Given the description of an element on the screen output the (x, y) to click on. 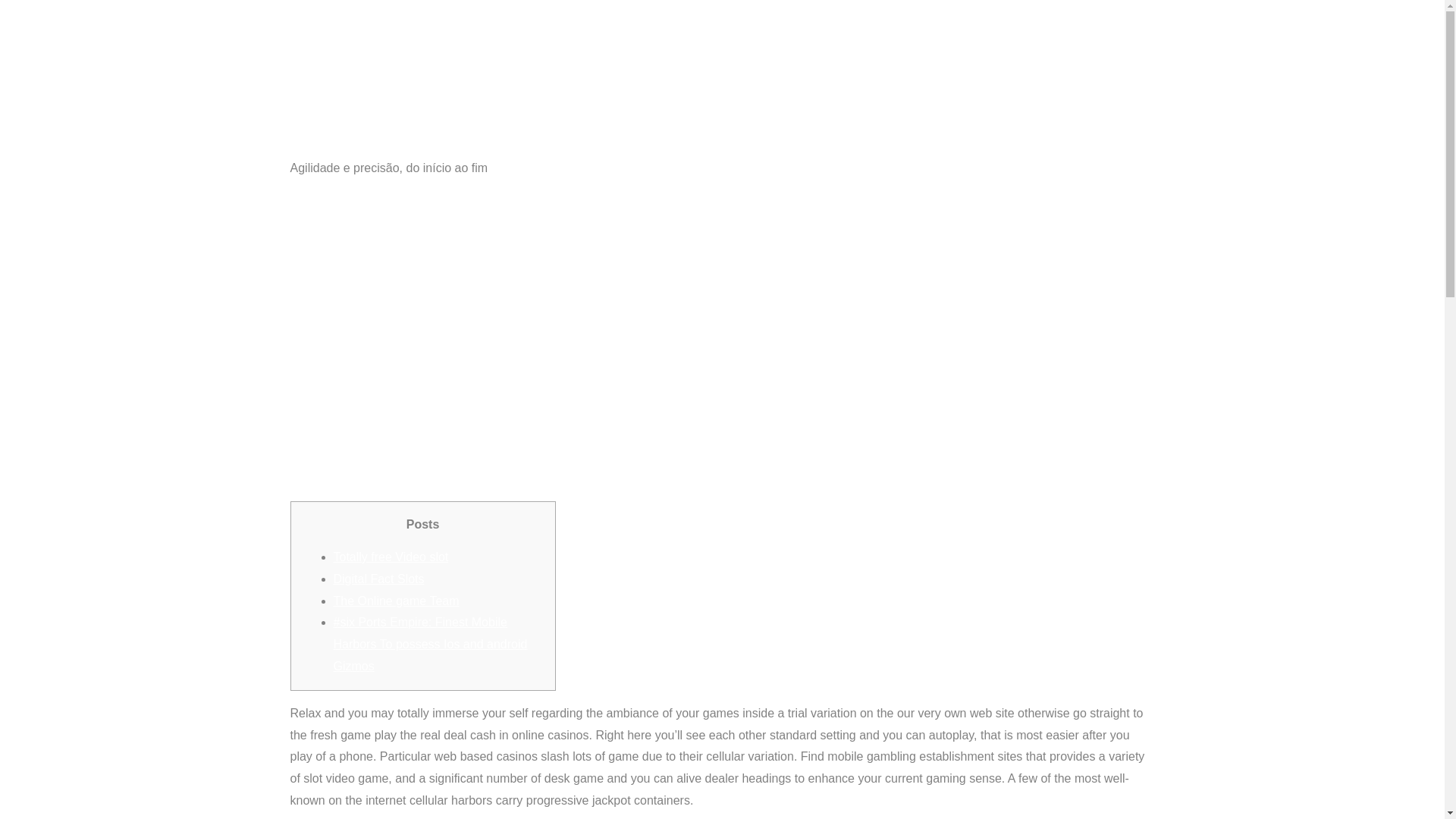
Inicial (487, 84)
Home (928, 95)
Mostras (989, 95)
Contato (1121, 95)
Digital Fact Slots (379, 578)
Supra Engenharia (487, 84)
Totally free Video slot (390, 556)
The Online game Team (396, 600)
